Given the description of an element on the screen output the (x, y) to click on. 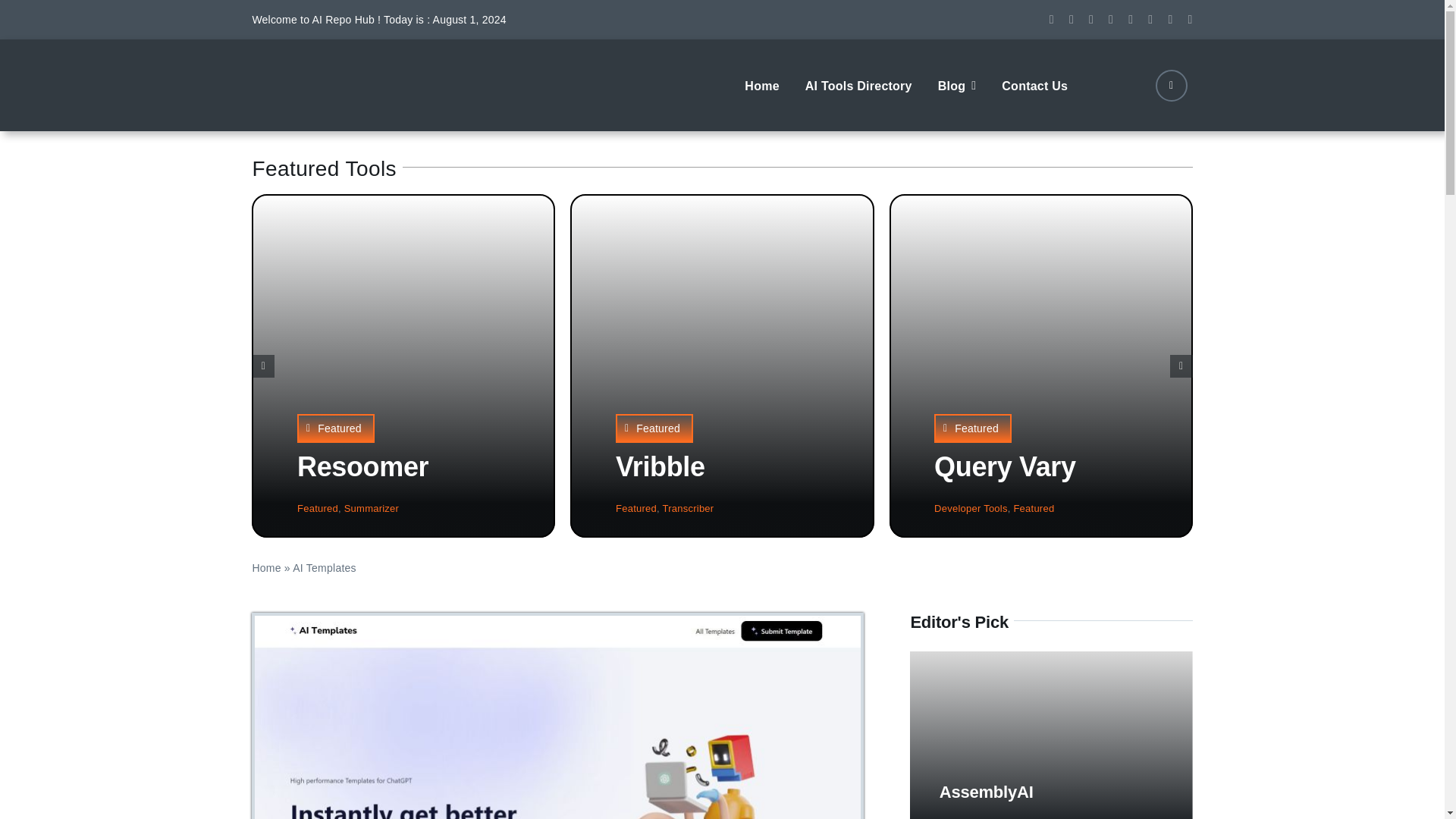
Featured (972, 428)
Summarizer (370, 508)
Developer Tools (970, 508)
Featured (1033, 508)
Contact Us (1034, 84)
Featured (654, 428)
AI Templates (557, 717)
Featured (317, 508)
Featured (335, 428)
Transcriber (688, 508)
AI Tools Directory (858, 84)
Query Vary (1004, 466)
Vribble (659, 466)
Featured (635, 508)
Resoomer (362, 466)
